Given the description of an element on the screen output the (x, y) to click on. 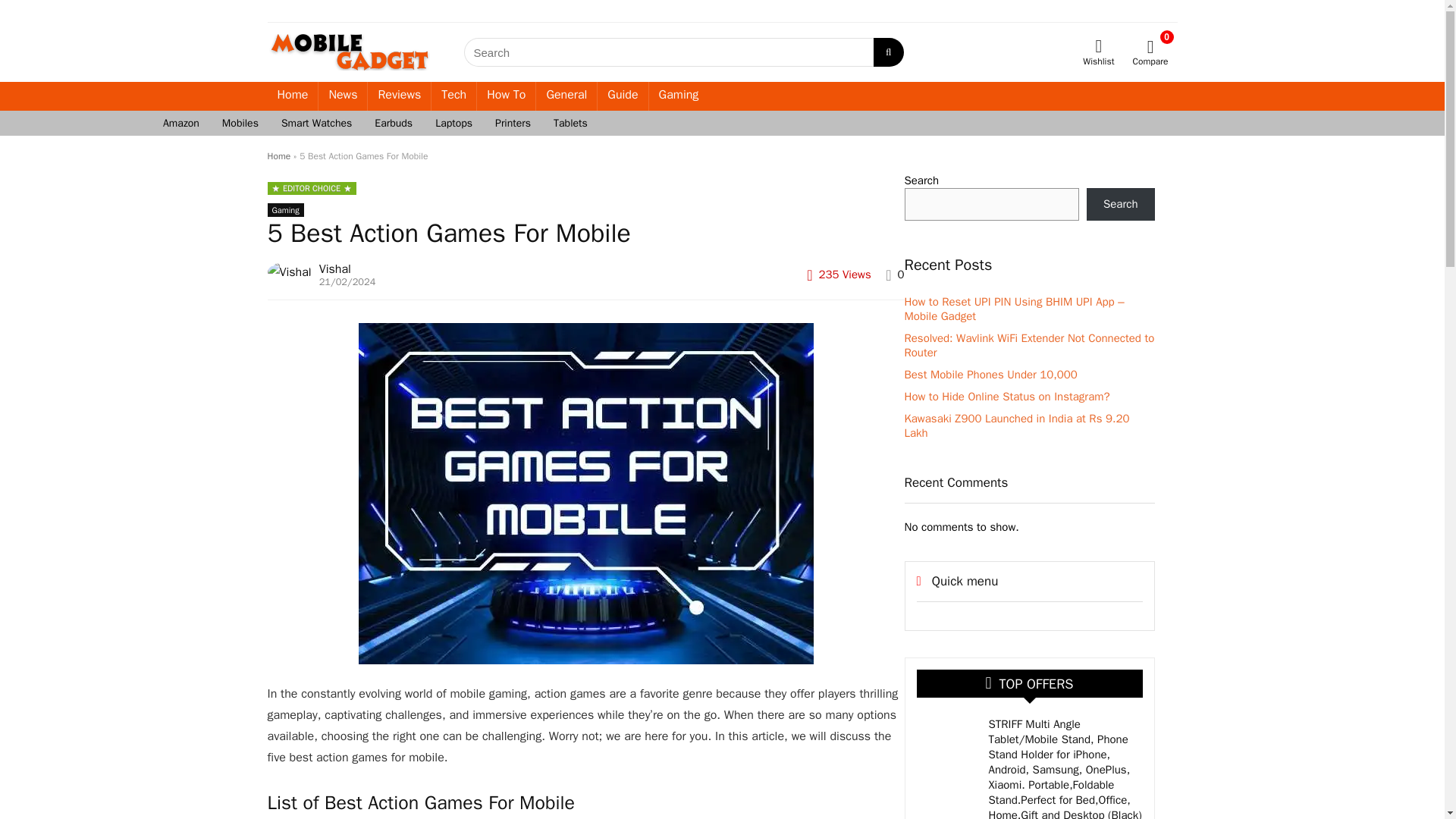
Earbuds (392, 122)
Smart Watches (315, 122)
Reviews (399, 95)
Best Mobile Phones Under 10,000 (990, 374)
Mobiles (240, 122)
Gaming (679, 95)
Guide (621, 95)
View all posts in Gaming (284, 210)
Search (1120, 204)
General (565, 95)
